Given the description of an element on the screen output the (x, y) to click on. 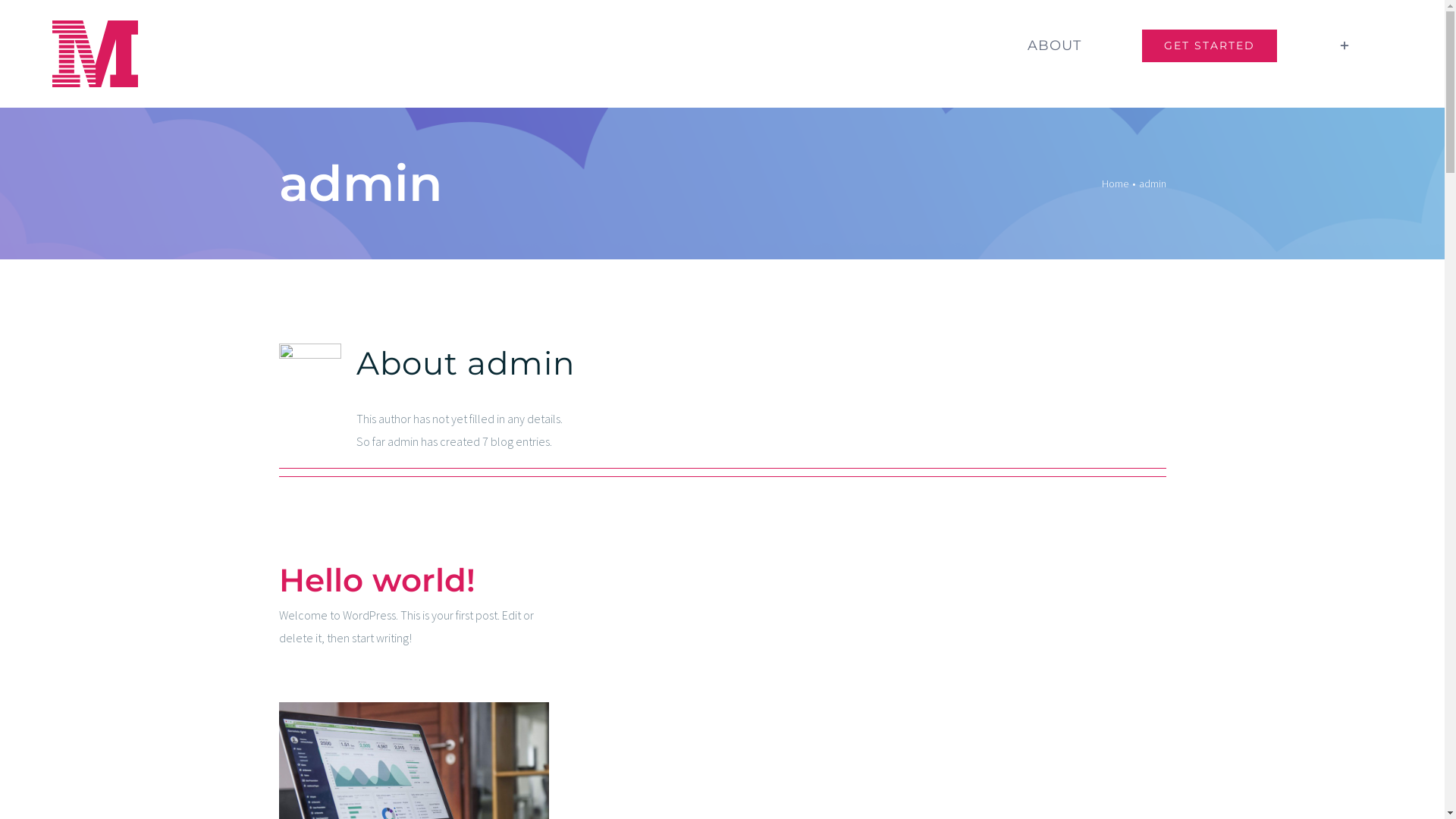
GET STARTED Element type: text (1209, 45)
Home Element type: text (1114, 183)
Hello world! Element type: text (377, 579)
Toggle Sliding Bar Element type: hover (1344, 45)
ABOUT Element type: text (1054, 45)
